Given the description of an element on the screen output the (x, y) to click on. 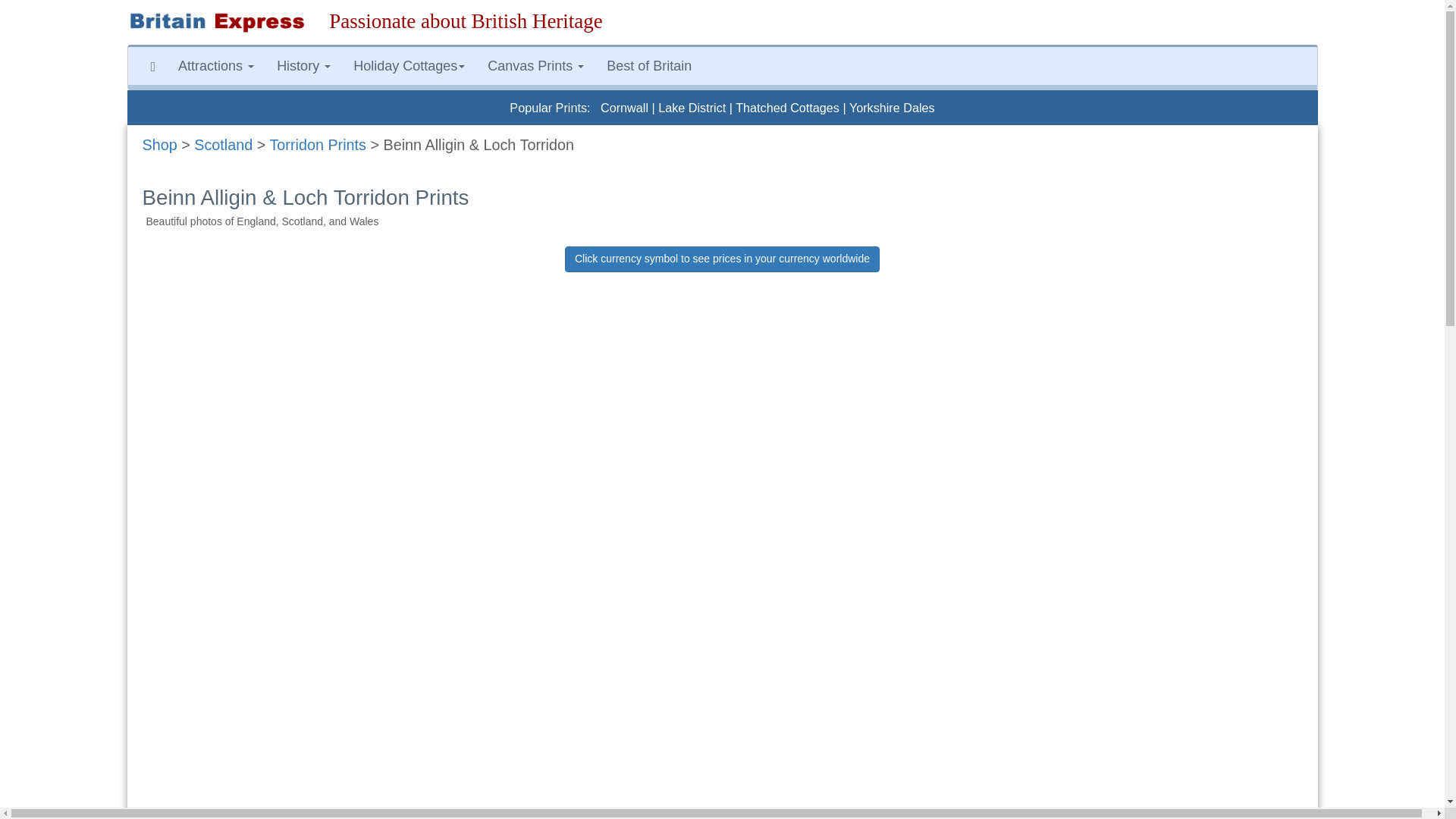
Torridon Prints (317, 144)
Cornwall Canvas Prints (623, 107)
Yorkshire Dales (891, 107)
Canvas Prints (535, 65)
Best of Britain (649, 65)
Cornwall (623, 107)
Thatched Cottages (787, 107)
Holiday Cottages (409, 65)
Scotland (222, 144)
Attractions (215, 65)
Britain Express home page (217, 22)
Lake District Canvas Prints (691, 107)
Thatched Cottages Canvas Prints (787, 107)
Yorkshire Canvas Prints (891, 107)
History (303, 65)
